Given the description of an element on the screen output the (x, y) to click on. 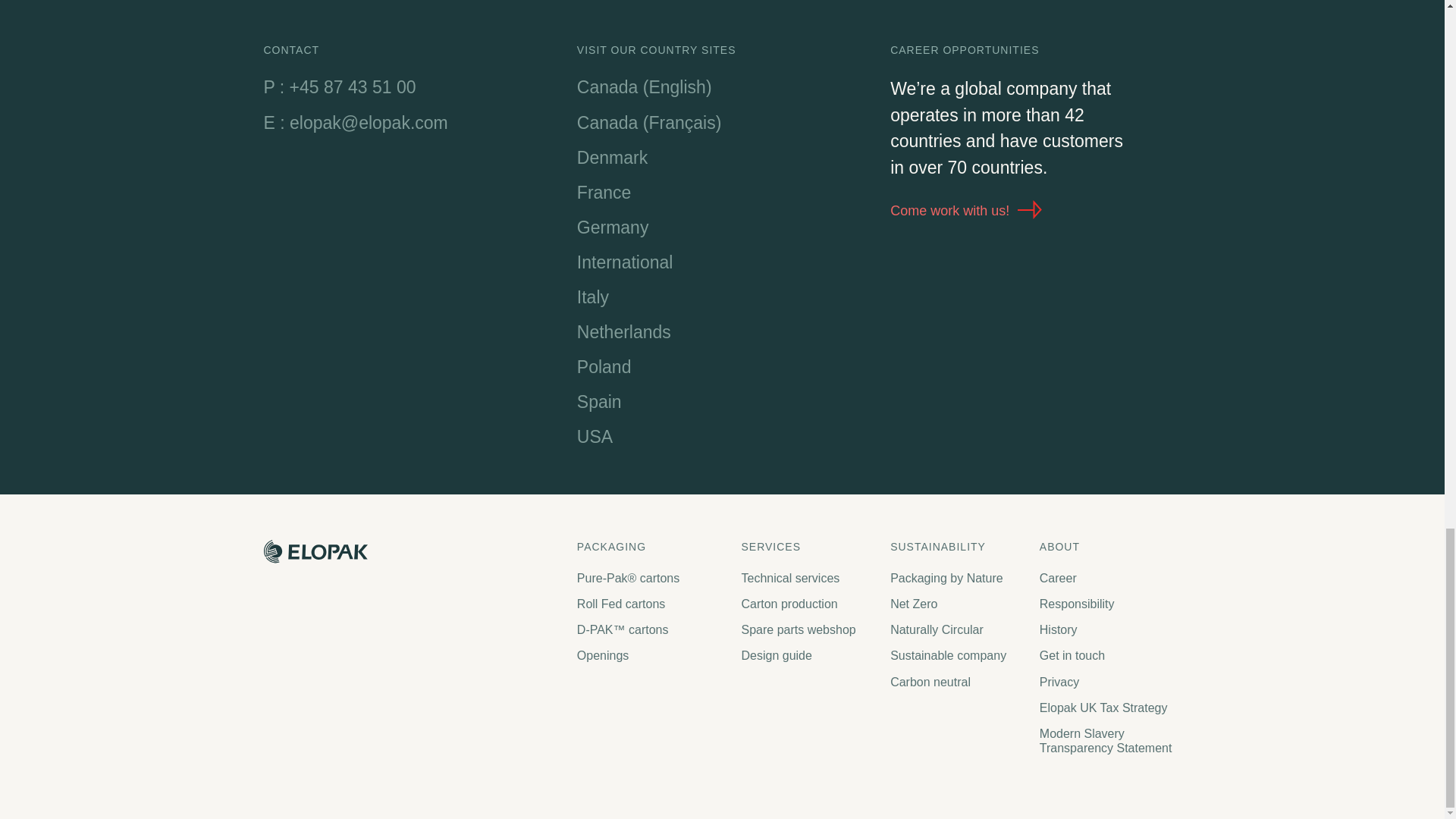
Packaging (651, 546)
Services (808, 546)
